Given the description of an element on the screen output the (x, y) to click on. 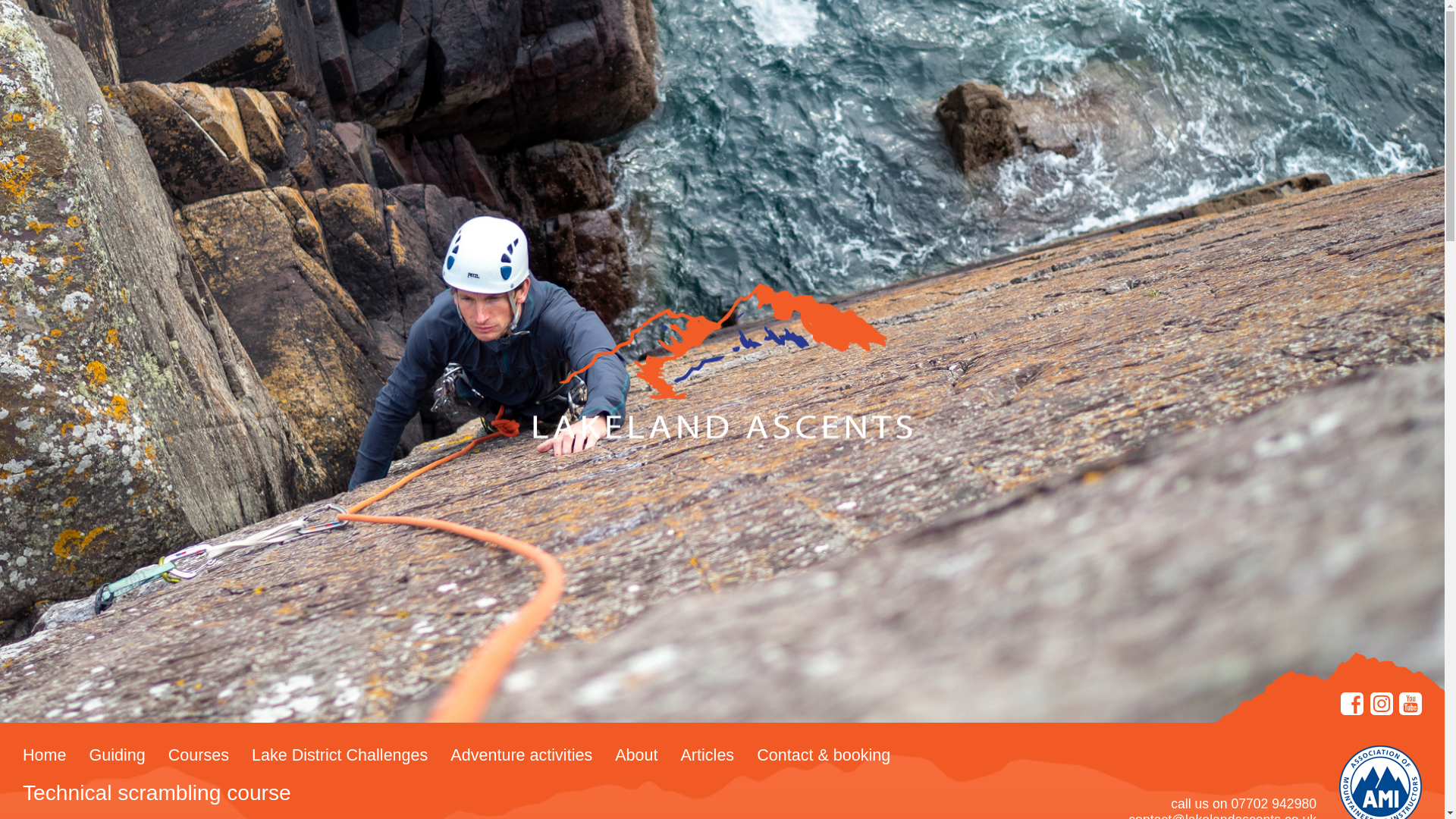
Lakeland Ascents (721, 360)
Home (44, 756)
Follow us on Instagram (1381, 702)
Association of Mountaineering Instructors (1380, 781)
Lakeland Ascents (721, 360)
Follow us on Facebook (1351, 702)
Follow us on Facebook (1351, 702)
Follow us on Instagram (1381, 702)
Guiding (116, 756)
Subscribe on YouTube (1410, 702)
Subscribe on YouTube (1410, 702)
